Given the description of an element on the screen output the (x, y) to click on. 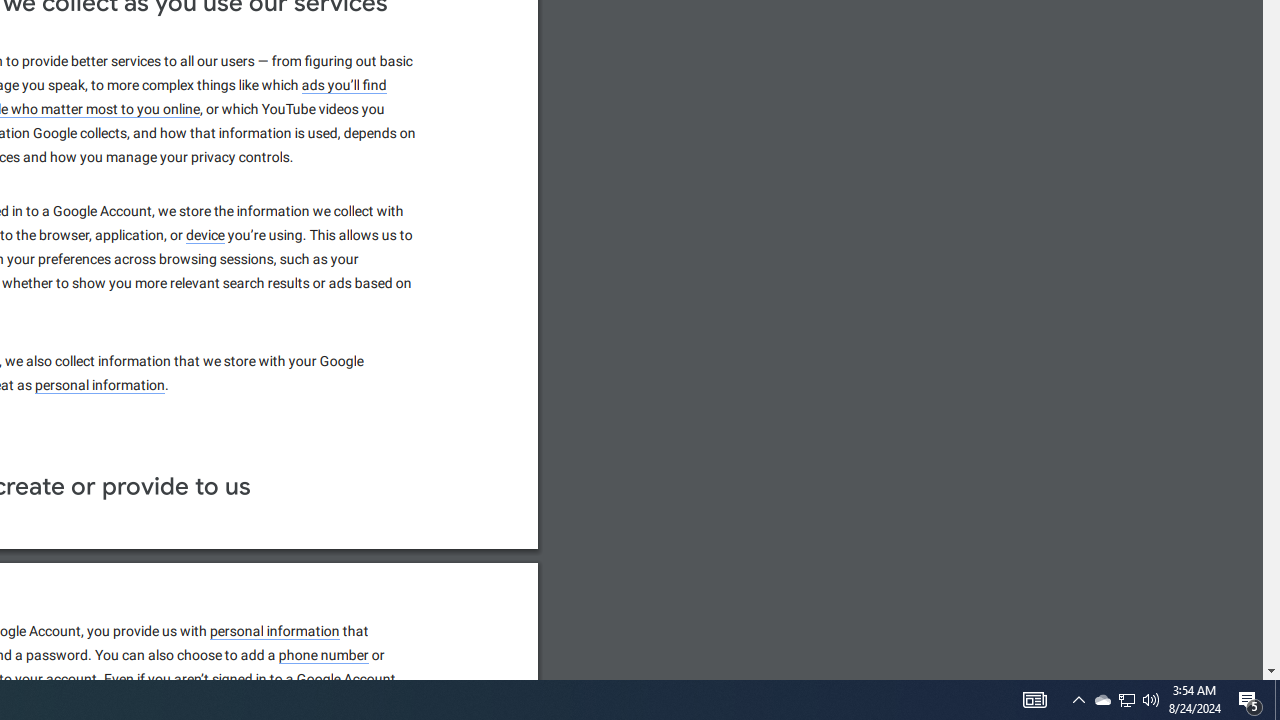
phone number (324, 656)
personal information (274, 631)
device (205, 235)
